Given the description of an element on the screen output the (x, y) to click on. 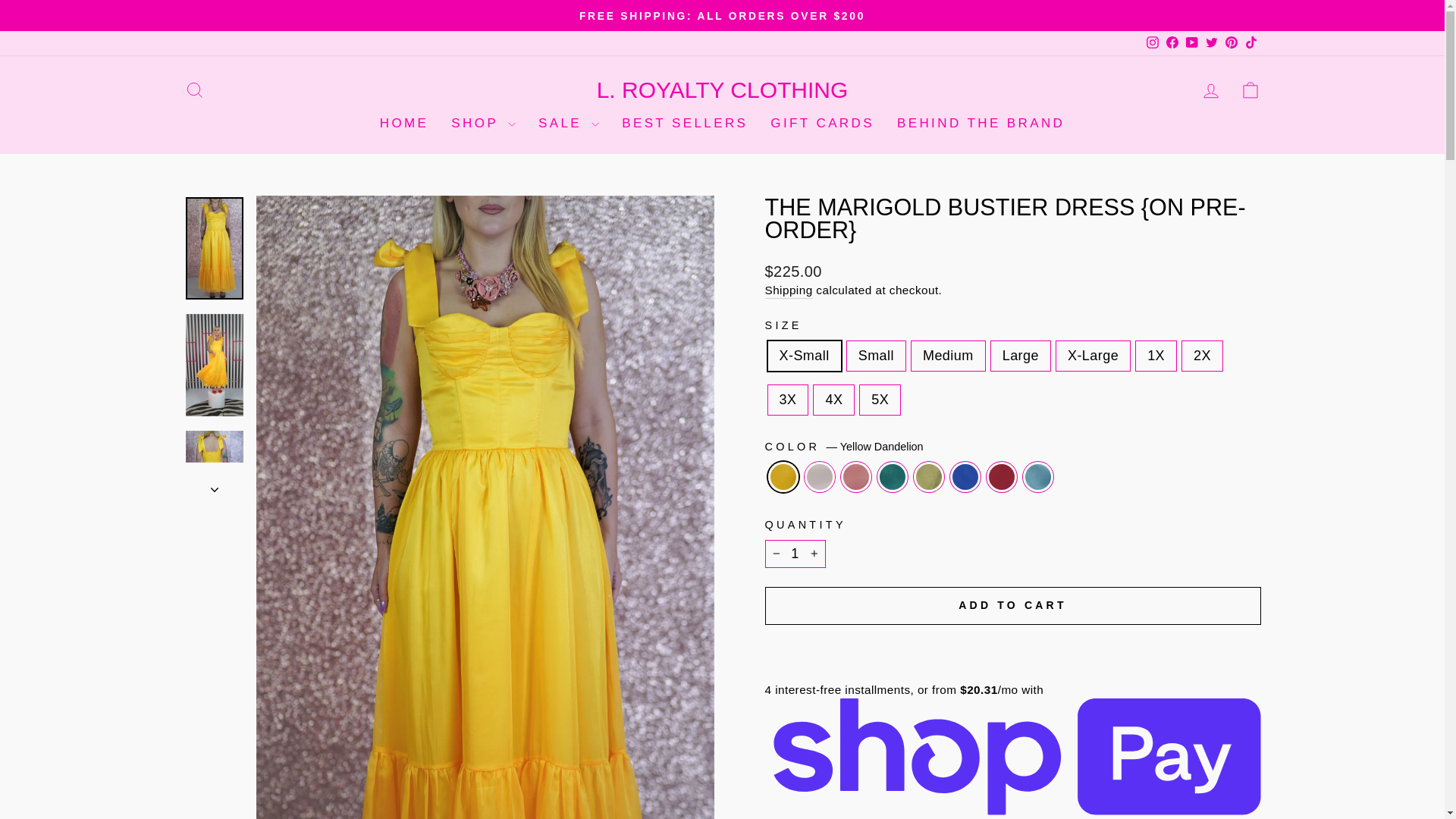
ICON-BAG-MINIMAL (1249, 89)
X-Large (194, 89)
